Given the description of an element on the screen output the (x, y) to click on. 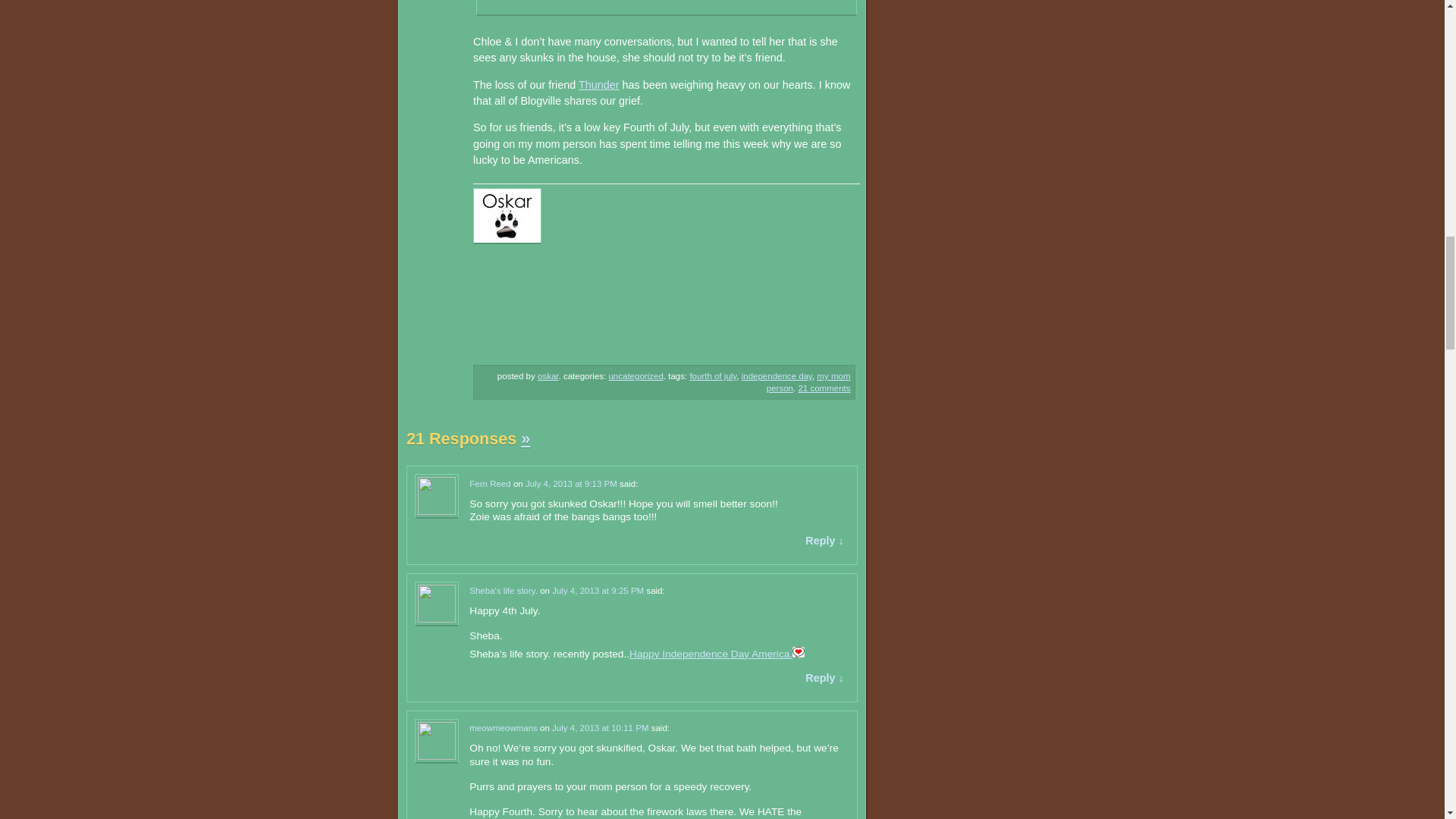
July 4, 2013 at 9:13 PM (571, 483)
July 4, 2013 at 9:25 PM (597, 590)
uncategorized (635, 375)
21 comments (823, 388)
my mom person (808, 382)
fourth of july (712, 375)
Happy Independence Day America. (710, 654)
oskar (548, 375)
View all posts by Oskar (548, 375)
independence day (776, 375)
meowmeowmans (502, 727)
Sheba's life story. (502, 590)
July 4, 2013 at 10:11 PM (599, 727)
Thunder (599, 84)
Fern Reed (489, 483)
